Given the description of an element on the screen output the (x, y) to click on. 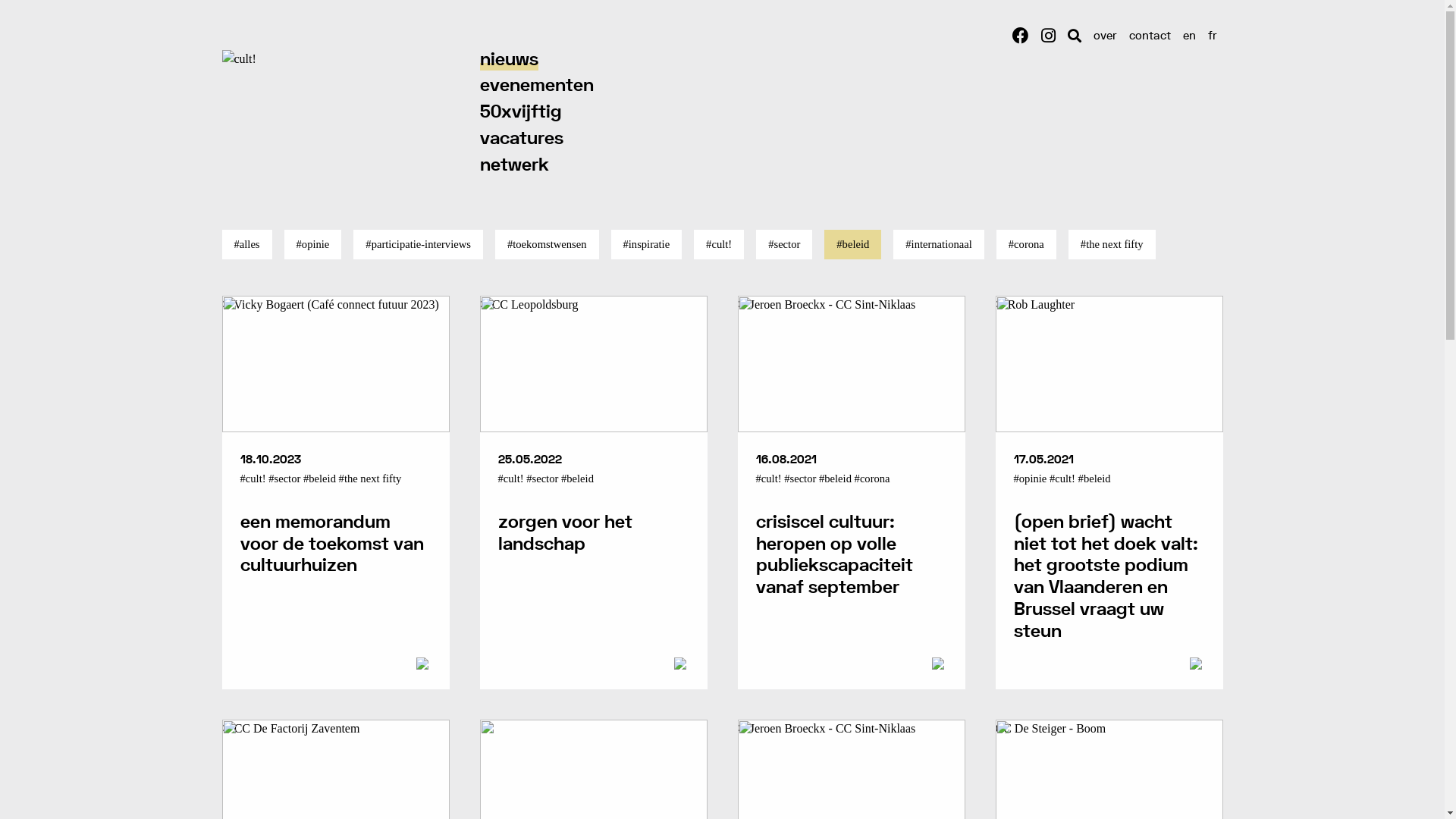
#participatie-interviews Element type: text (418, 244)
vacatures Element type: text (520, 139)
#internationaal Element type: text (938, 244)
50xvijftig Element type: text (520, 112)
#opinie Element type: text (313, 244)
nieuws Element type: text (508, 60)
contact Element type: text (1149, 36)
netwerk Element type: text (513, 165)
fr Element type: text (1211, 36)
#toekomstwensen Element type: text (547, 244)
over Element type: text (1105, 36)
en Element type: text (1188, 36)
#alles Element type: text (246, 244)
#the next fifty Element type: text (1111, 244)
#corona Element type: text (1026, 244)
#sector Element type: text (784, 244)
#cult! Element type: text (718, 244)
#inspiratie Element type: text (646, 244)
evenementen Element type: text (536, 86)
#beleid Element type: text (852, 244)
